Given the description of an element on the screen output the (x, y) to click on. 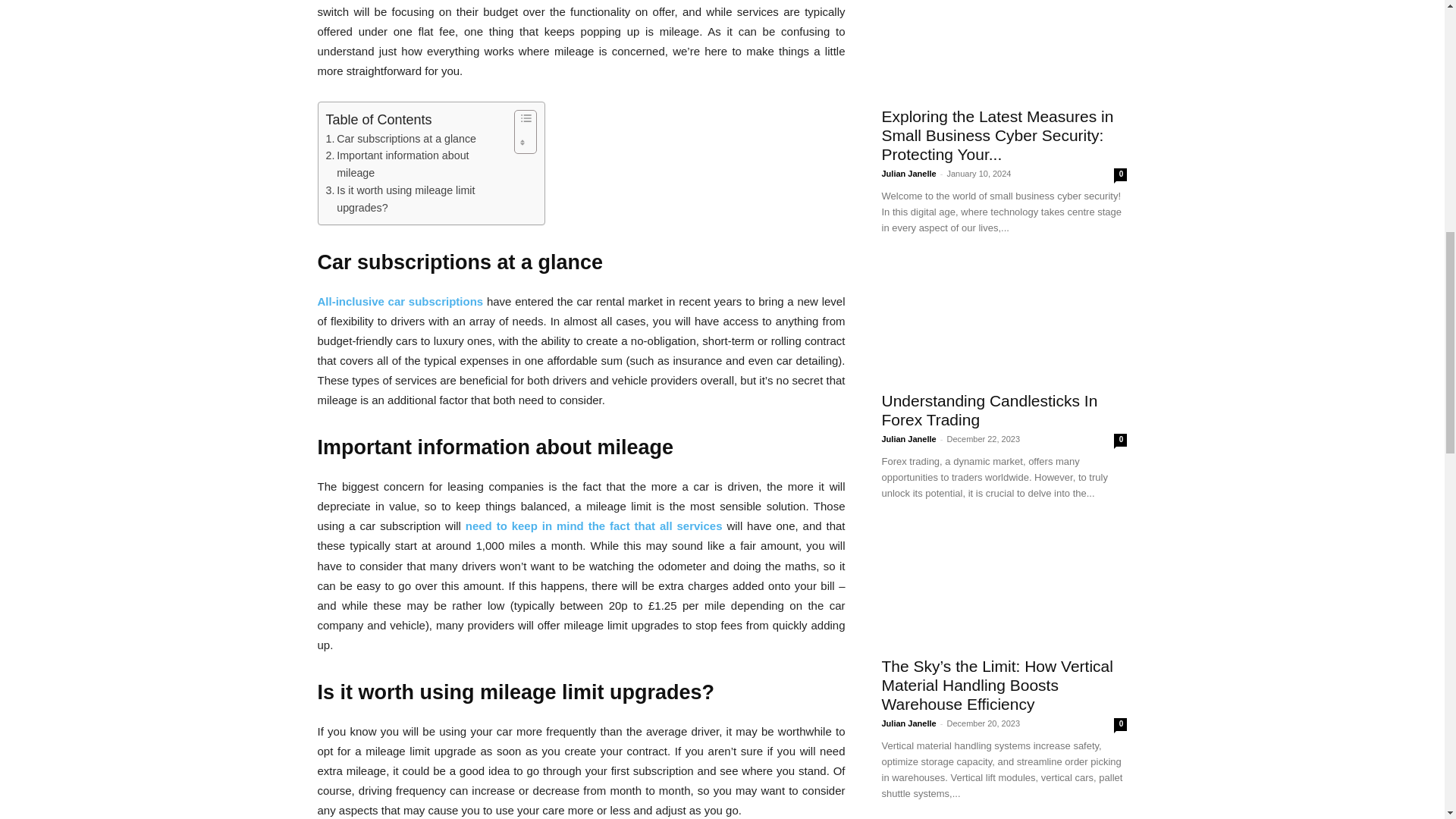
Important information about mileage (416, 164)
Car subscriptions at a glance (401, 139)
Is it worth using mileage limit upgrades? (416, 199)
